Given the description of an element on the screen output the (x, y) to click on. 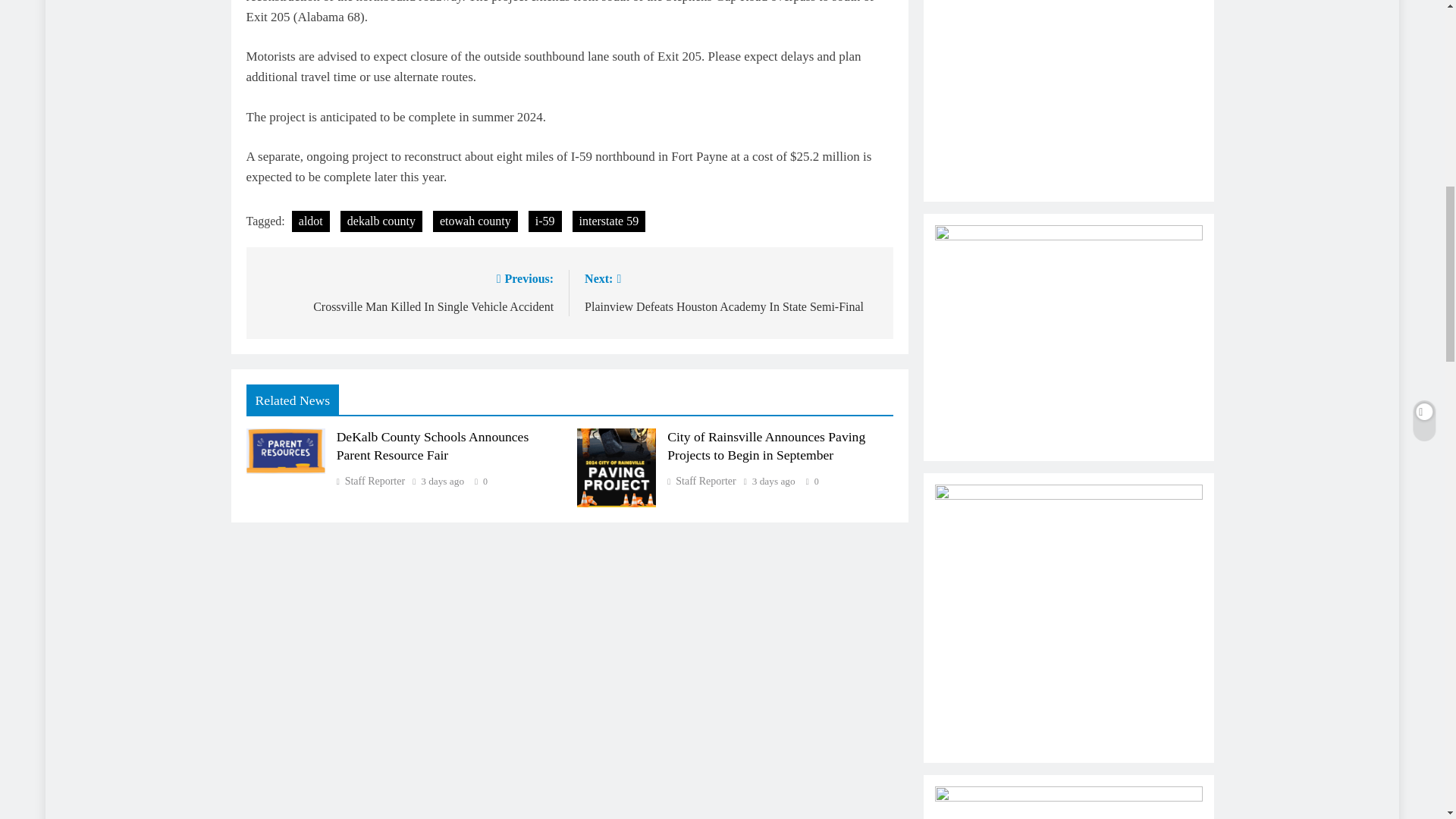
3 days ago (442, 480)
Staff Reporter (700, 480)
etowah county (475, 220)
3 days ago (773, 480)
interstate 59 (609, 220)
i-59 (545, 220)
DeKalb County Schools Announces Parent Resource Fair (432, 445)
dekalb county (381, 220)
aldot (311, 220)
